Given the description of an element on the screen output the (x, y) to click on. 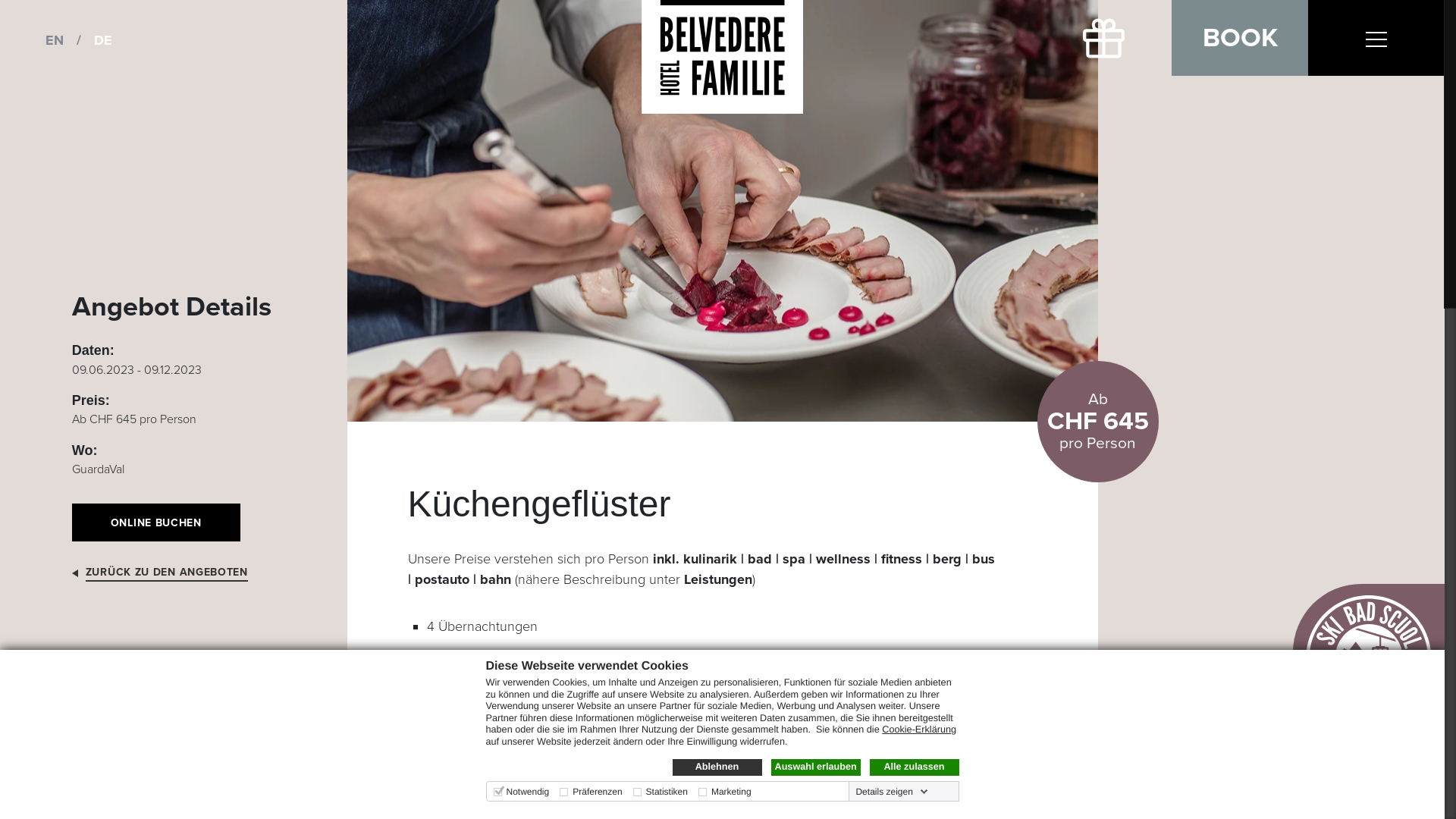
ONLINE BUCHEN Element type: text (156, 522)
Leistungen Element type: text (718, 579)
Auswahl erlauben Element type: text (814, 767)
DE Element type: text (103, 39)
EN / Element type: text (69, 39)
Engadin Bad Scuol Element type: text (485, 796)
Alle zulassen Element type: text (913, 767)
Ablehnen Element type: text (716, 767)
Details zeigen Element type: text (891, 791)
Gutschein Shop Element type: hover (1103, 37)
BOOK Element type: text (1239, 37)
